Given the description of an element on the screen output the (x, y) to click on. 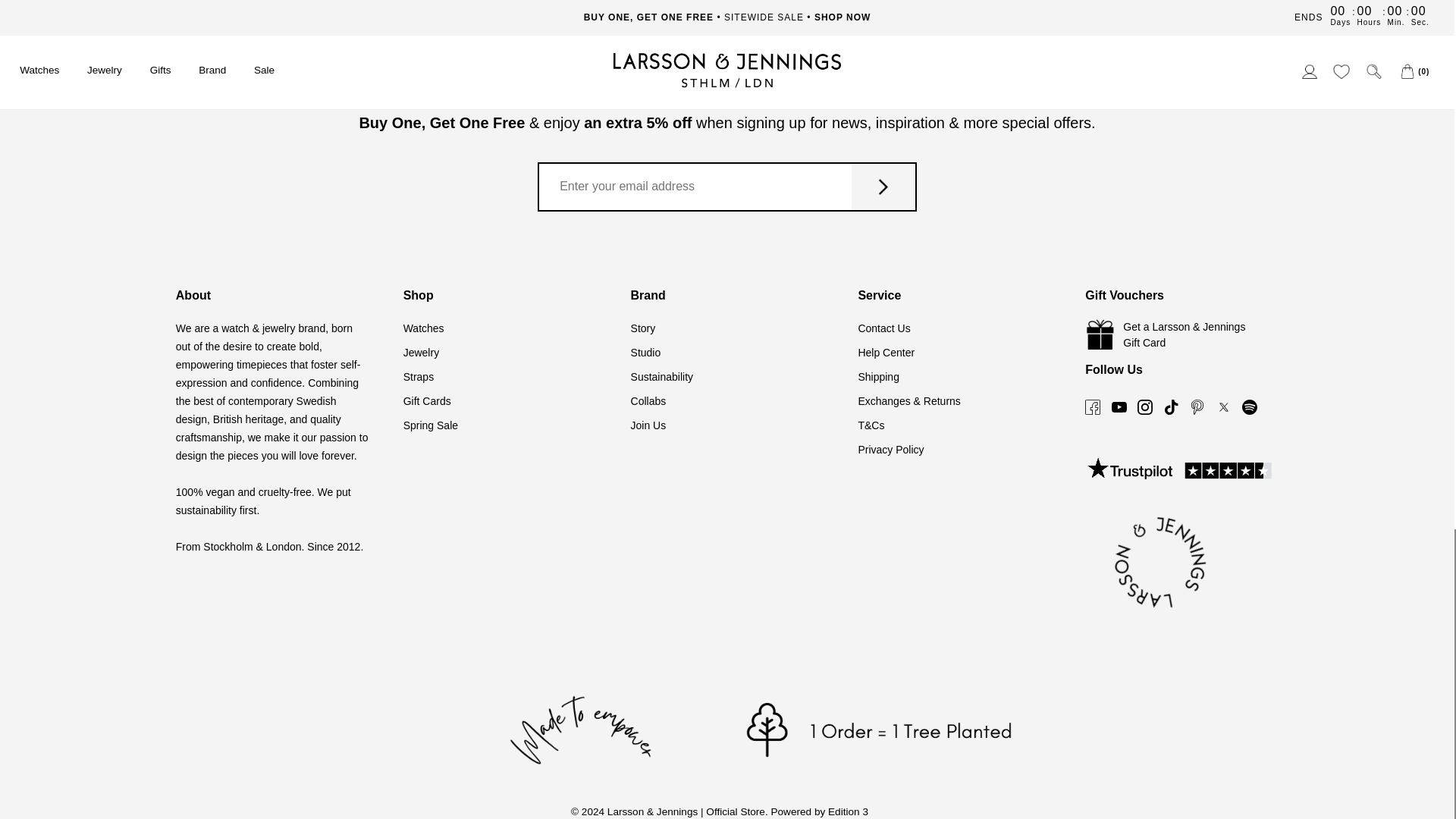
Youtube (1119, 368)
Instagram (1145, 368)
